Given the description of an element on the screen output the (x, y) to click on. 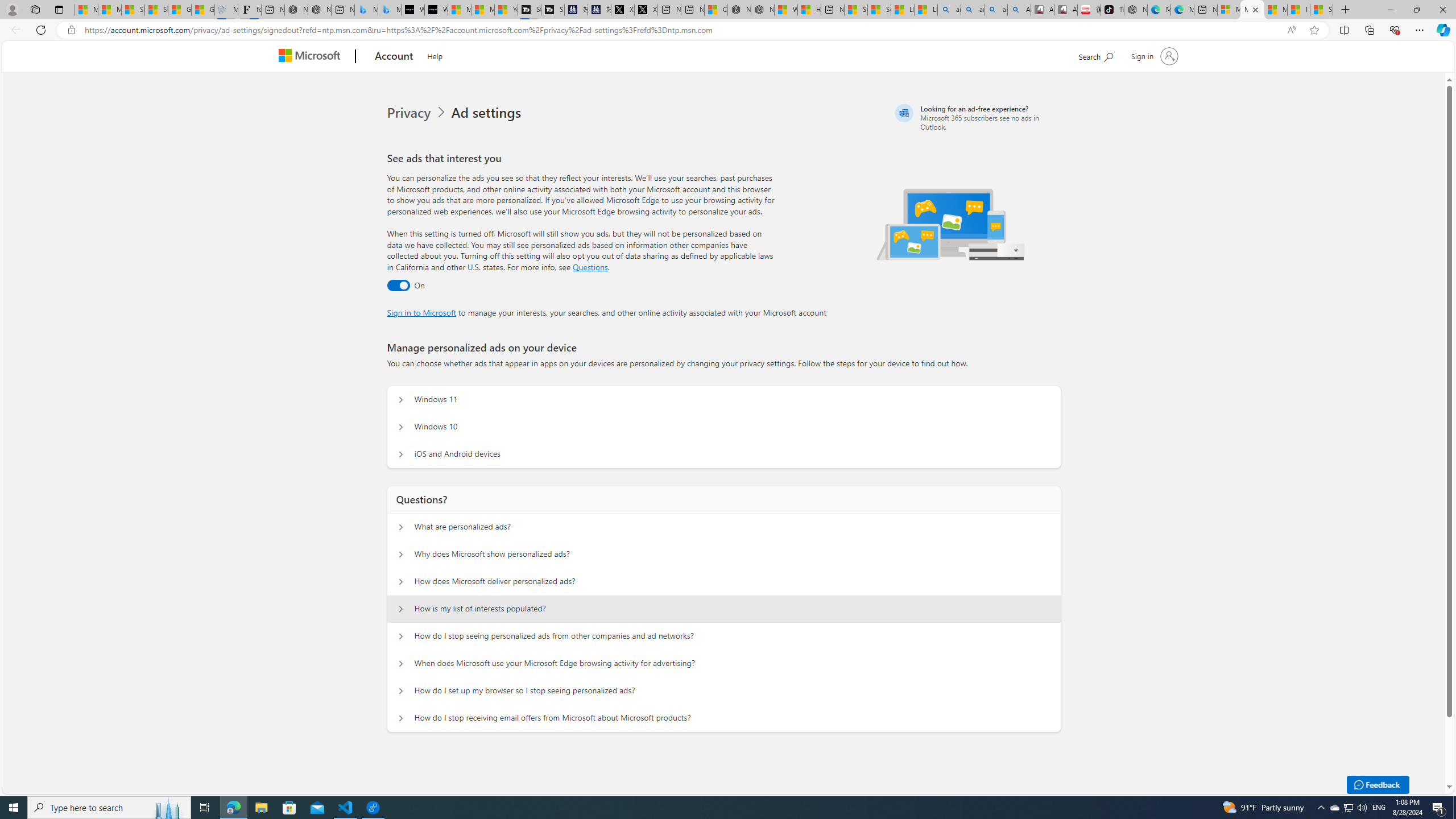
amazon - Search Images (995, 9)
Illustration of multiple devices (951, 224)
Ad settings (488, 112)
Ad settings toggle (398, 285)
